Given the description of an element on the screen output the (x, y) to click on. 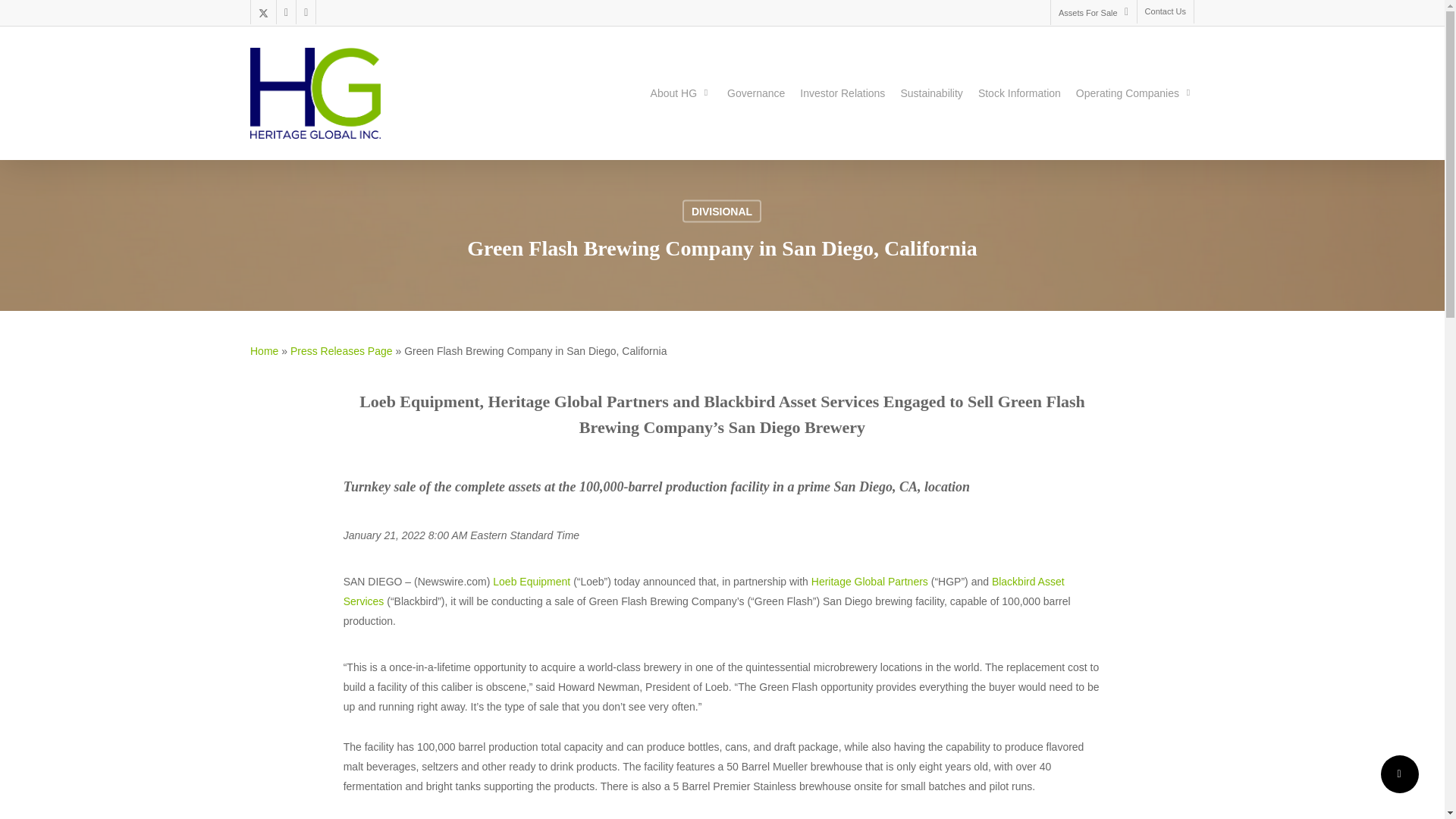
Investor Relations (842, 92)
Press Releases Page (341, 350)
Contact Us (1165, 11)
Governance (755, 92)
Heritage Global Partners  (870, 581)
Assets For Sale (1093, 12)
DIVISIONAL (721, 210)
twitter (263, 12)
Loeb Equipment (531, 581)
Stock Information (1019, 92)
Home (264, 350)
About HG (680, 92)
Blackbird Asset Services (703, 591)
Sustainability (930, 92)
Operating Companies (1134, 92)
